Given the description of an element on the screen output the (x, y) to click on. 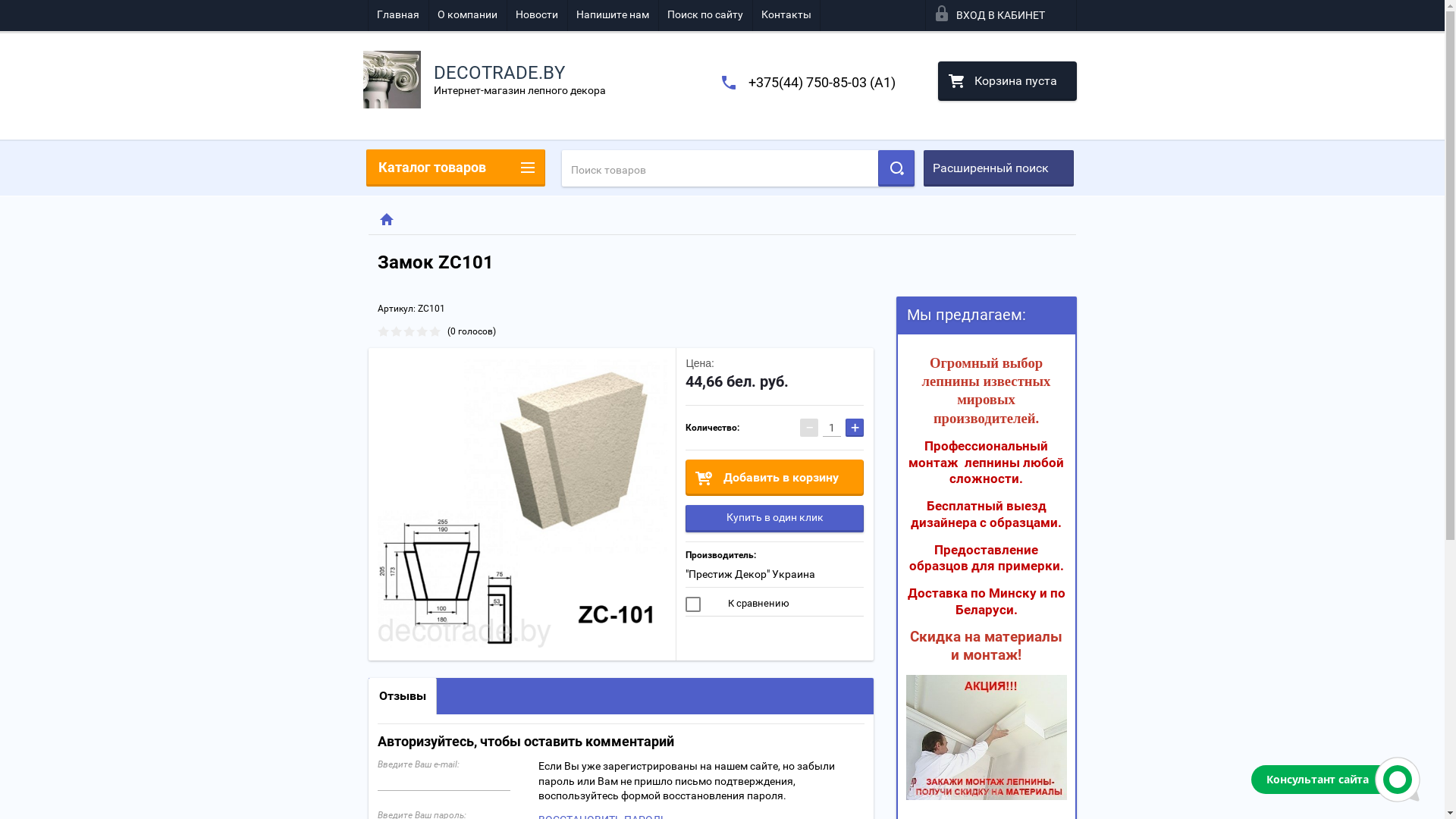
+ Element type: text (854, 427)
